Given the description of an element on the screen output the (x, y) to click on. 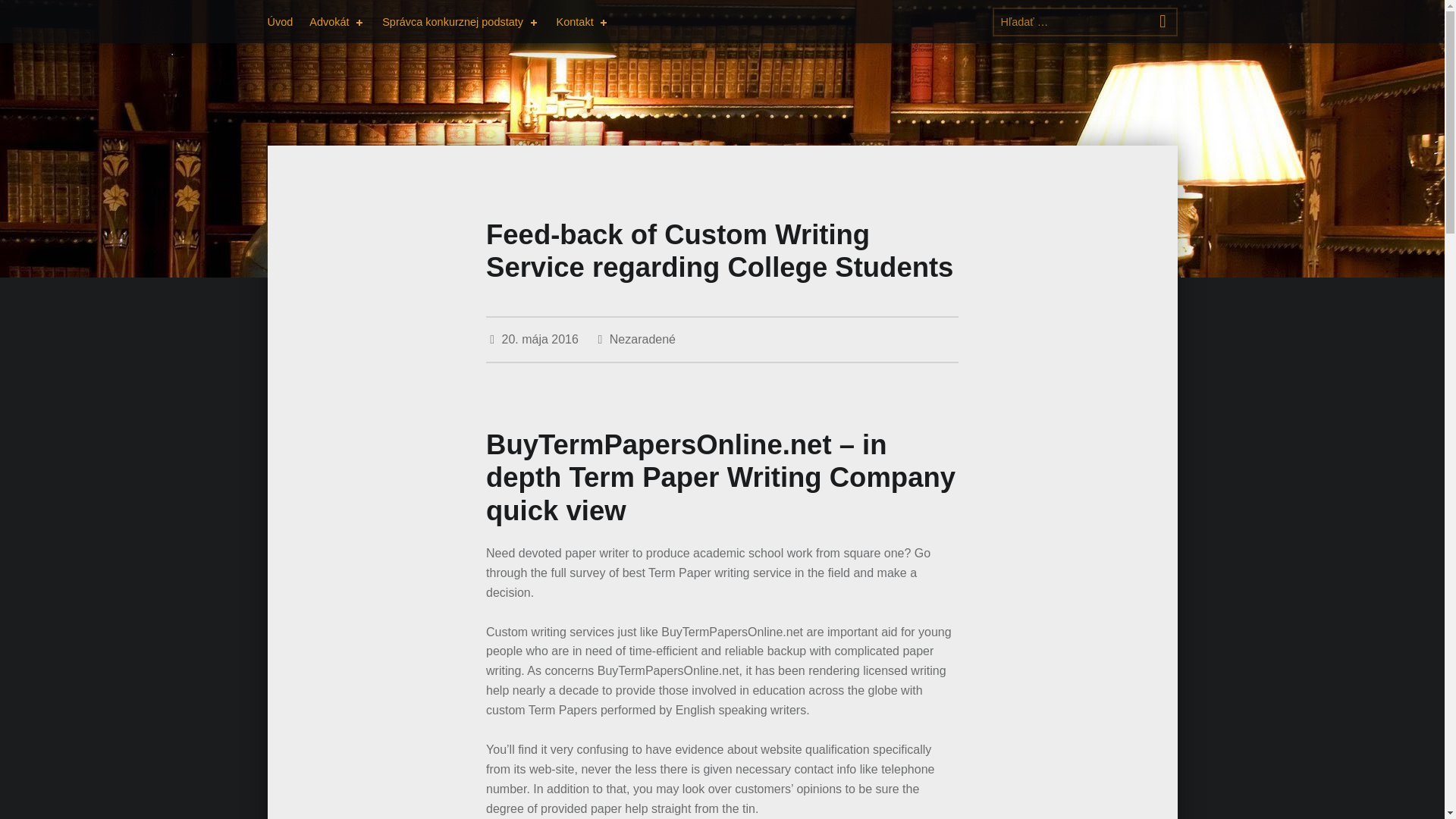
Kontakt (583, 21)
Kontakt (583, 21)
